Given the description of an element on the screen output the (x, y) to click on. 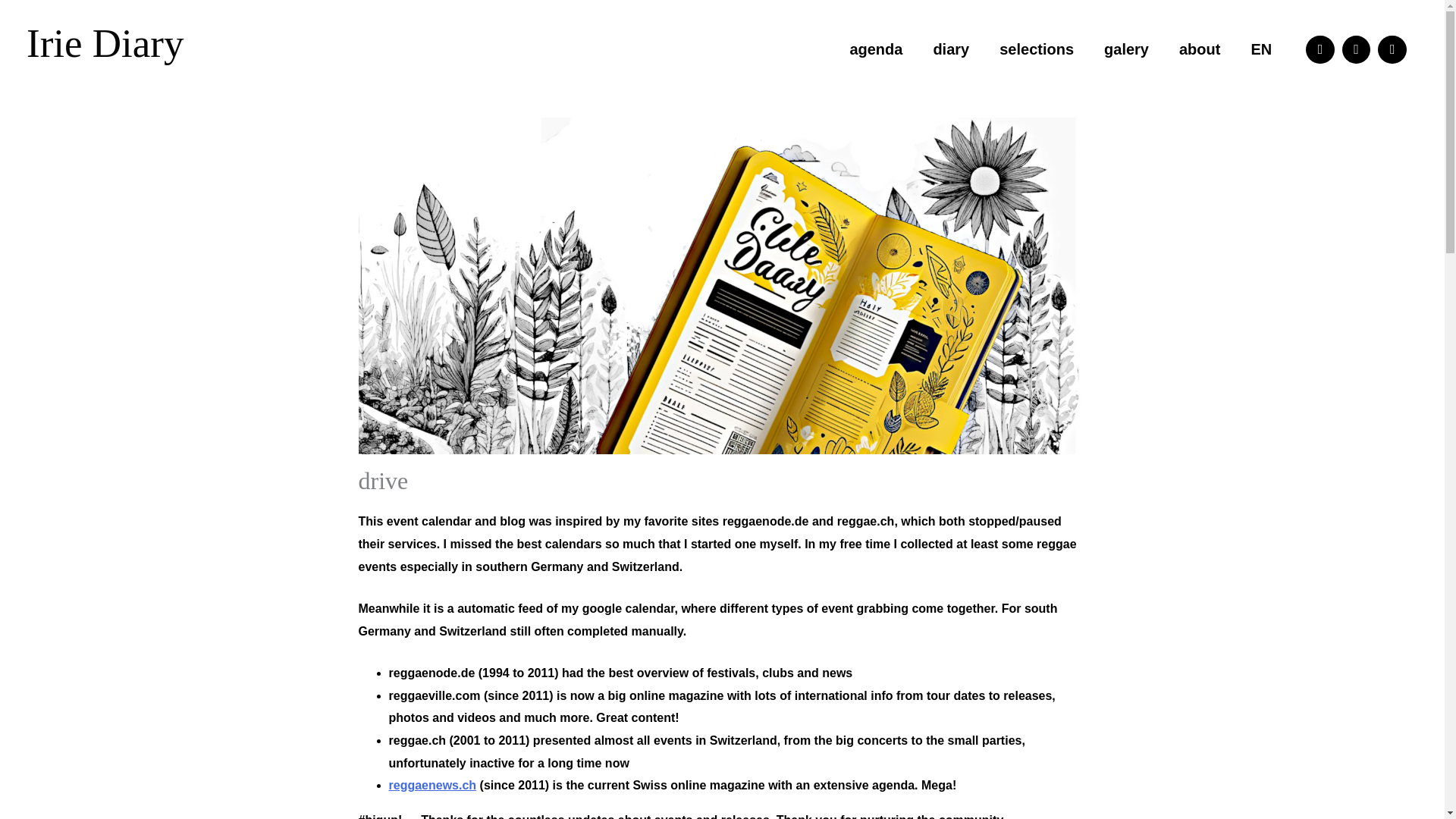
galery (1126, 48)
Default Label (1319, 49)
Irie Diary (104, 43)
selections (1036, 48)
agenda (875, 48)
diary (950, 48)
Default Label (1356, 49)
Default Label (1392, 49)
reggaenews.ch (432, 784)
about (1198, 48)
